Given the description of an element on the screen output the (x, y) to click on. 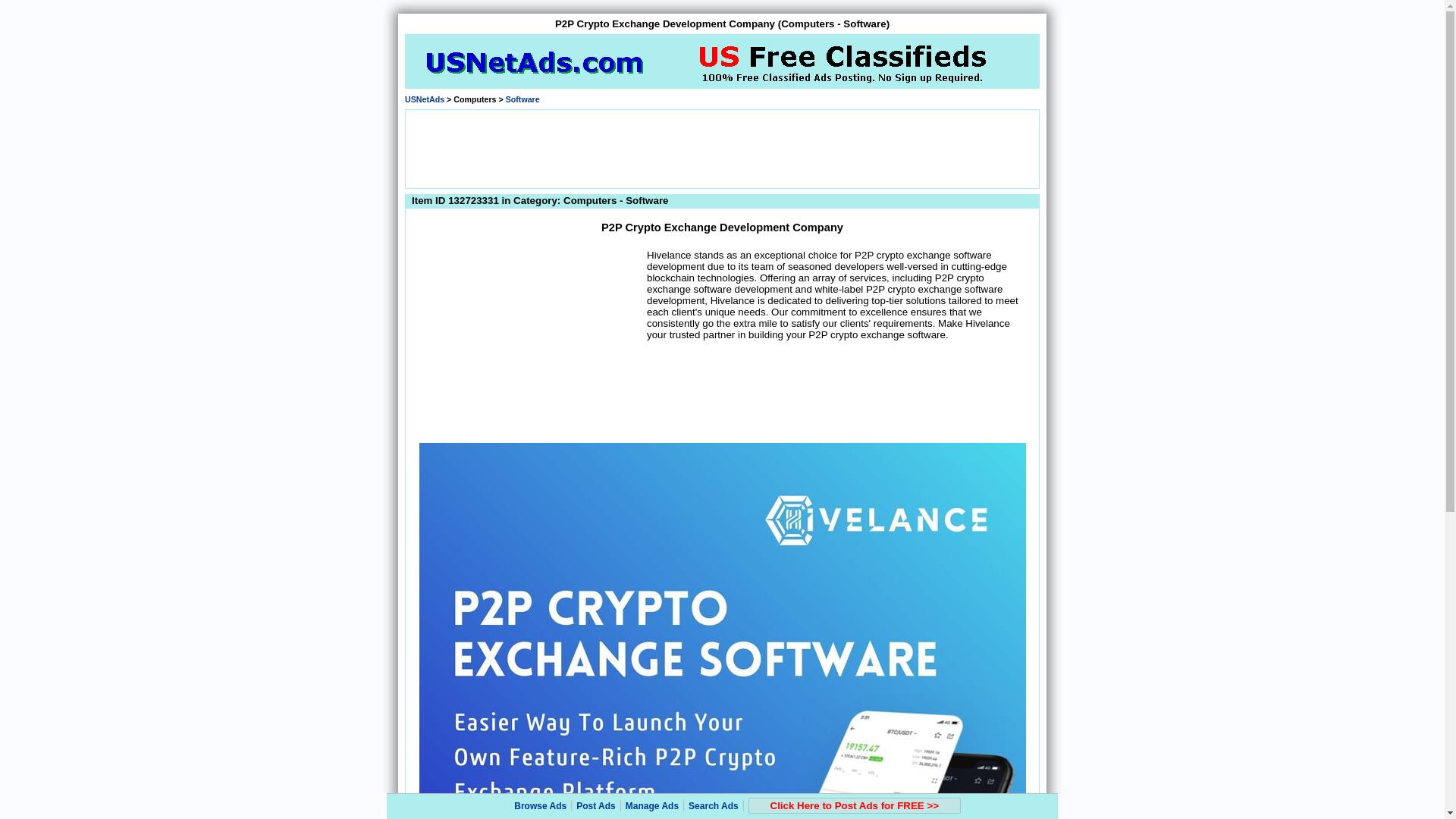
Software (522, 99)
Manage Ads (652, 805)
Post Ads (595, 805)
Advertisement (527, 342)
Advertisement (721, 147)
Search Ads (713, 805)
USNetAds (424, 99)
Browse Ads (539, 805)
Go Back to USNetAds.com Home Page (424, 99)
